Given the description of an element on the screen output the (x, y) to click on. 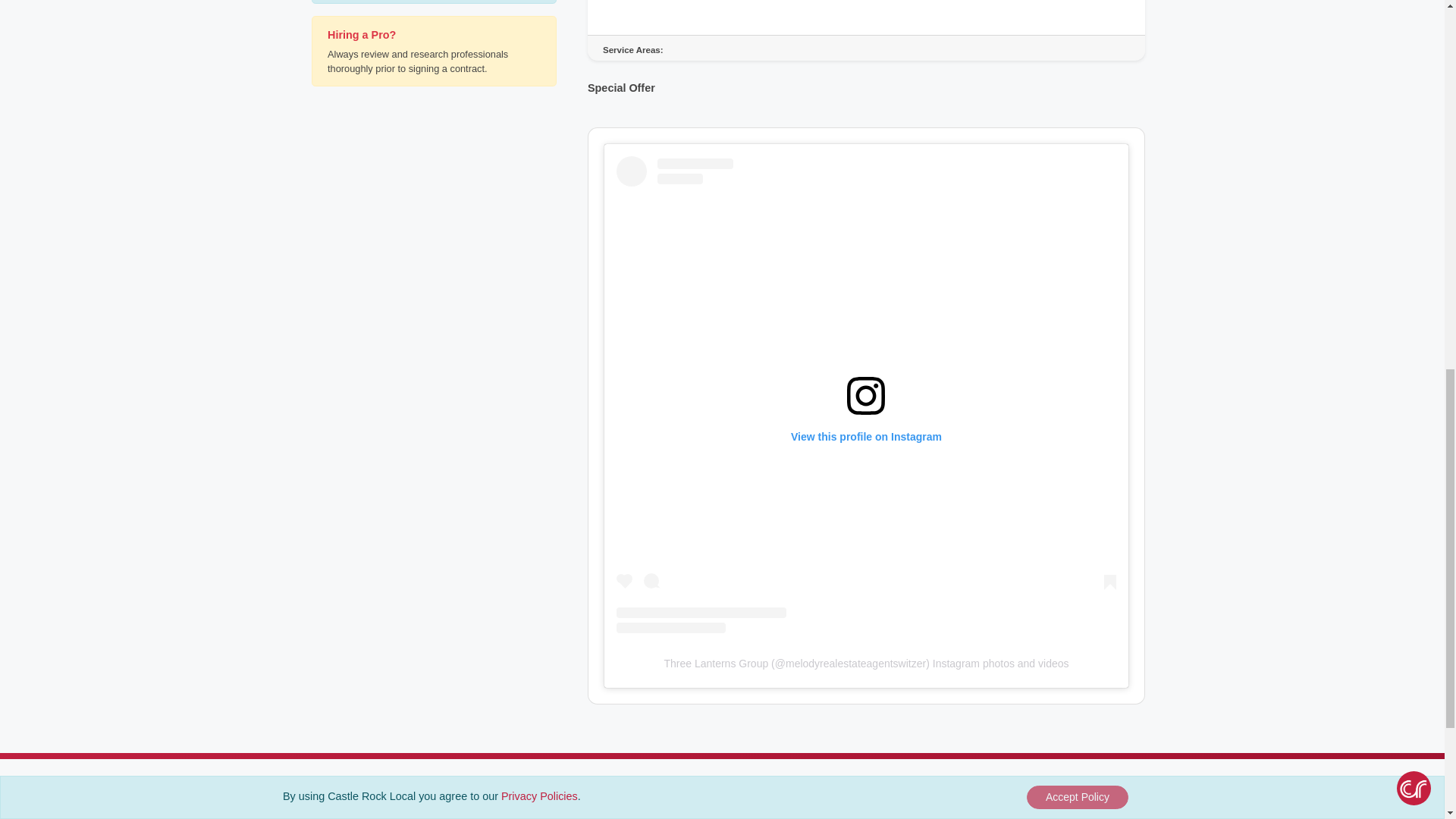
Create a Local Business Profile (686, 806)
Castle Rock Colorado (351, 807)
melodyrealestateagentswitzer (856, 663)
Three Lanterns Group (715, 663)
